Given the description of an element on the screen output the (x, y) to click on. 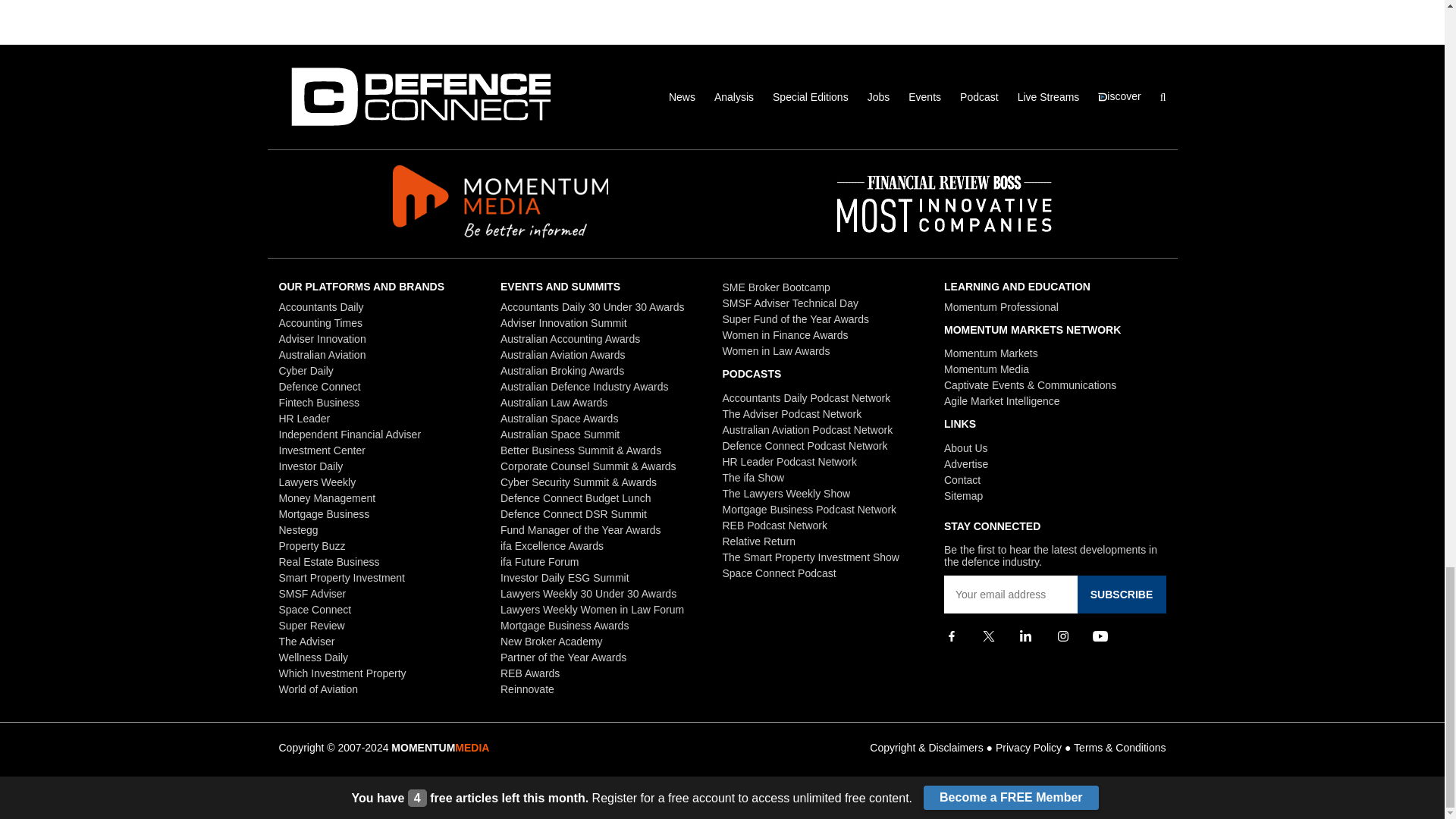
SUBSCRIBE (1121, 594)
